Given the description of an element on the screen output the (x, y) to click on. 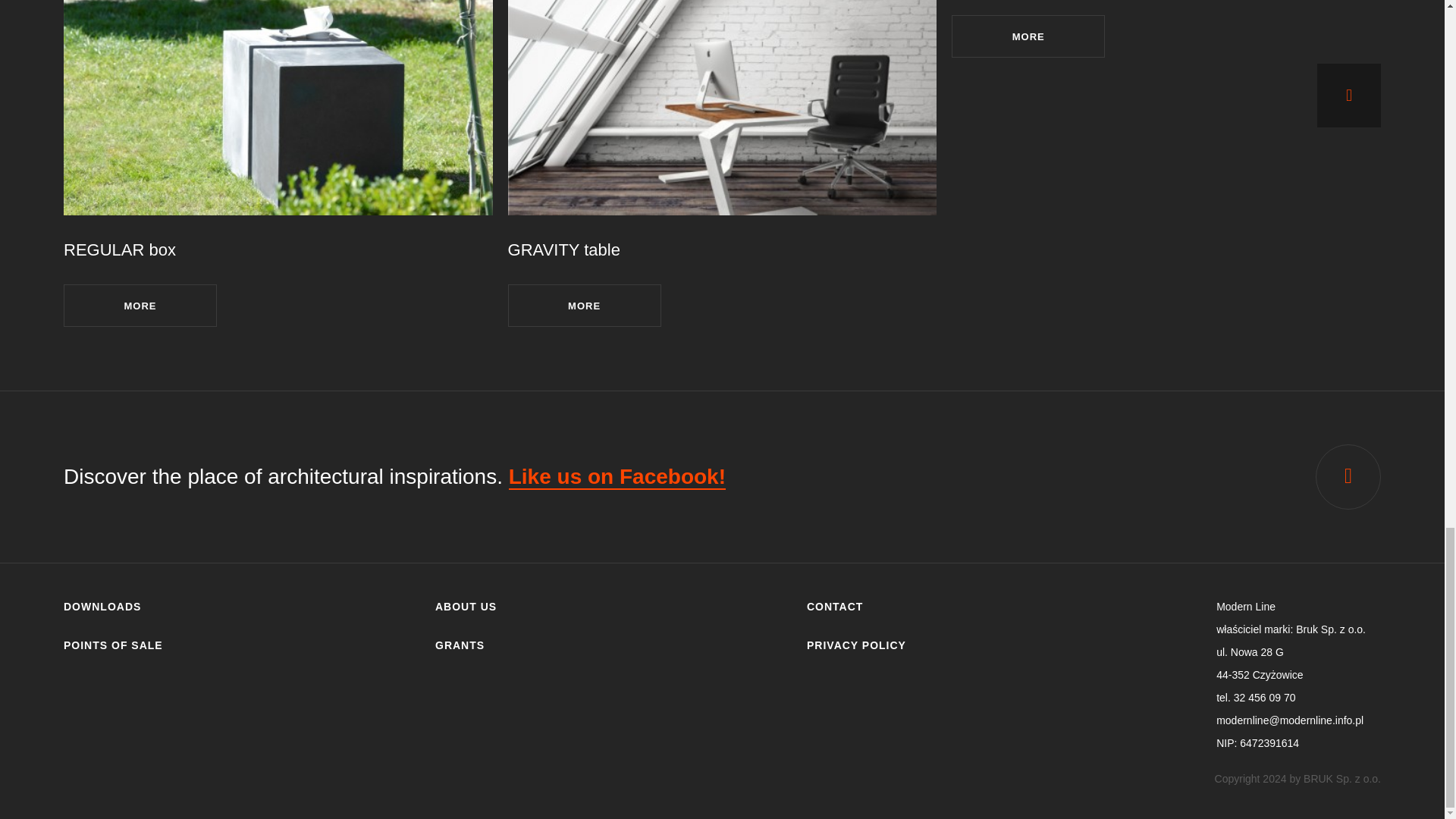
ABOUT US (465, 606)
MORE (1028, 36)
Like us on Facebook! (616, 477)
GRAVITY table (564, 249)
PRIVACY POLICY (855, 645)
CONTACT (834, 606)
POINTS OF SALE (113, 645)
REGULAR box (120, 249)
GRANTS (459, 645)
MORE (584, 305)
MORE (140, 305)
DOWNLOADS (102, 606)
